Given the description of an element on the screen output the (x, y) to click on. 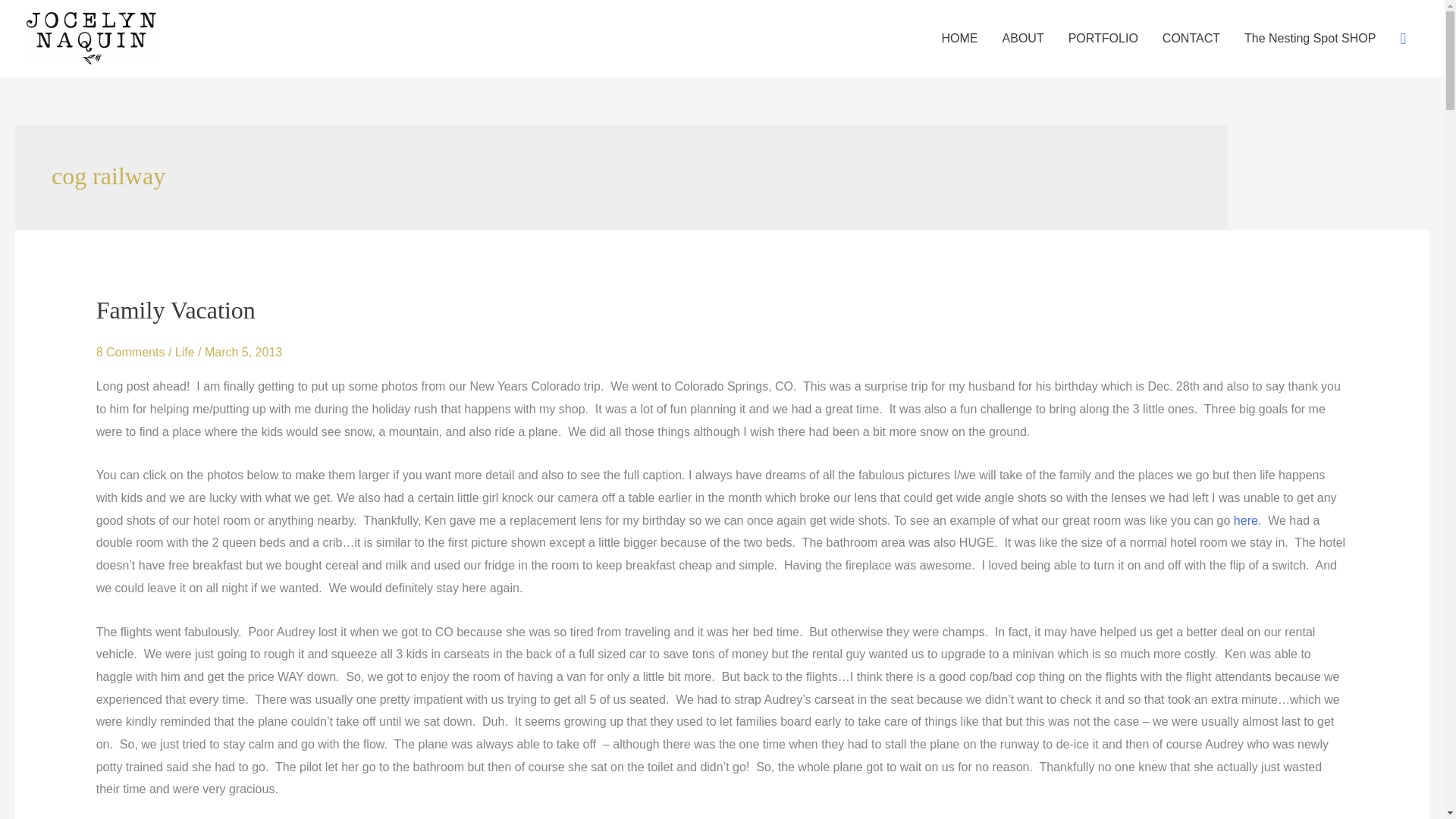
CONTACT (1190, 38)
here (1245, 520)
8 Comments (130, 351)
PORTFOLIO (1103, 38)
Life (184, 351)
The Nesting Spot SHOP (1309, 38)
Family Vacation (176, 309)
